Given the description of an element on the screen output the (x, y) to click on. 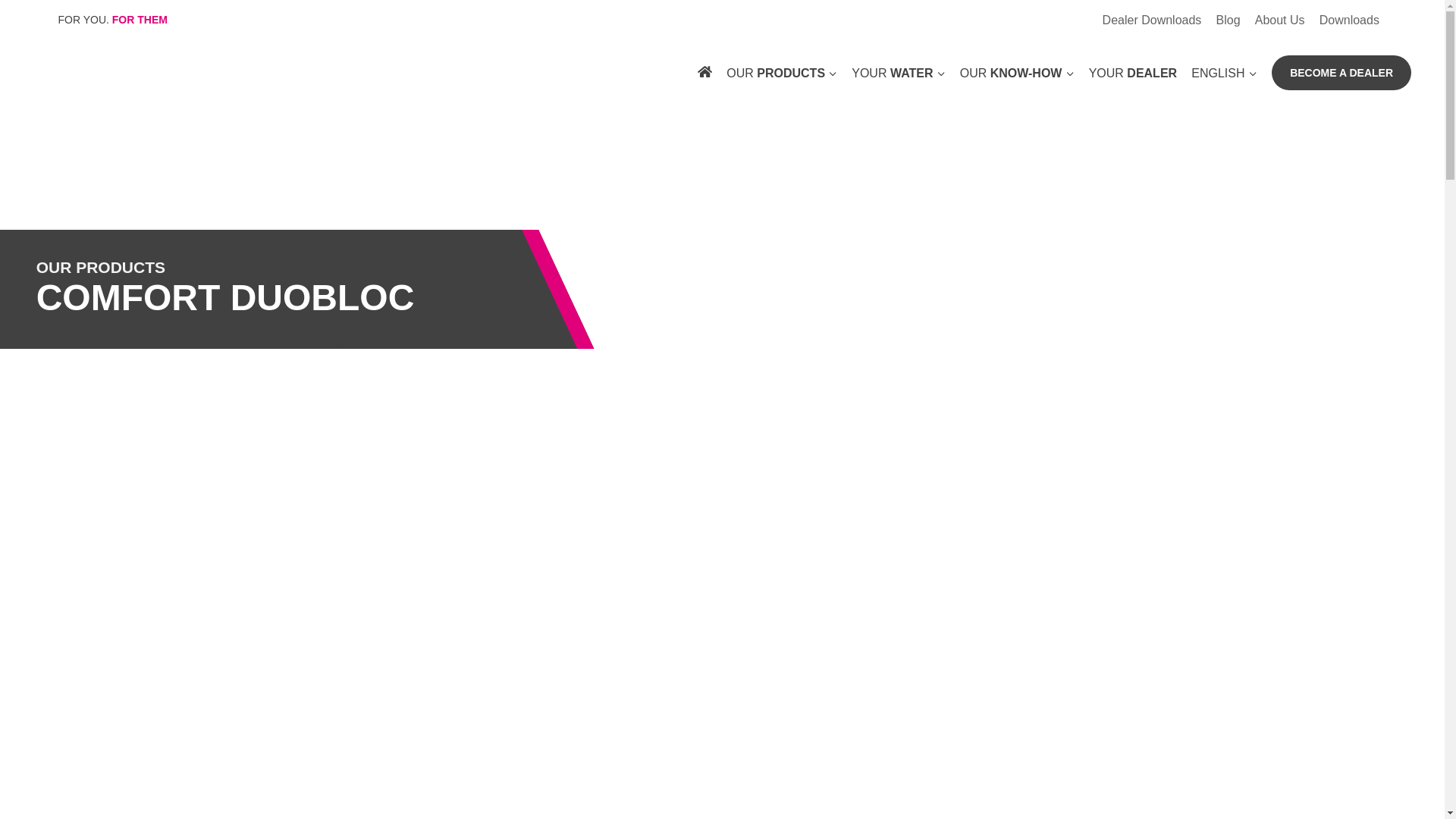
YOUR WATER (898, 71)
ENGLISH (1224, 71)
About Us (1279, 19)
OUR KNOW-HOW (1016, 71)
Dealer Downloads (1151, 19)
Blog (1227, 19)
OUR PRODUCTS (781, 71)
English (1224, 71)
BECOME A DEALER (1340, 72)
YOUR DEALER (1133, 71)
